Given the description of an element on the screen output the (x, y) to click on. 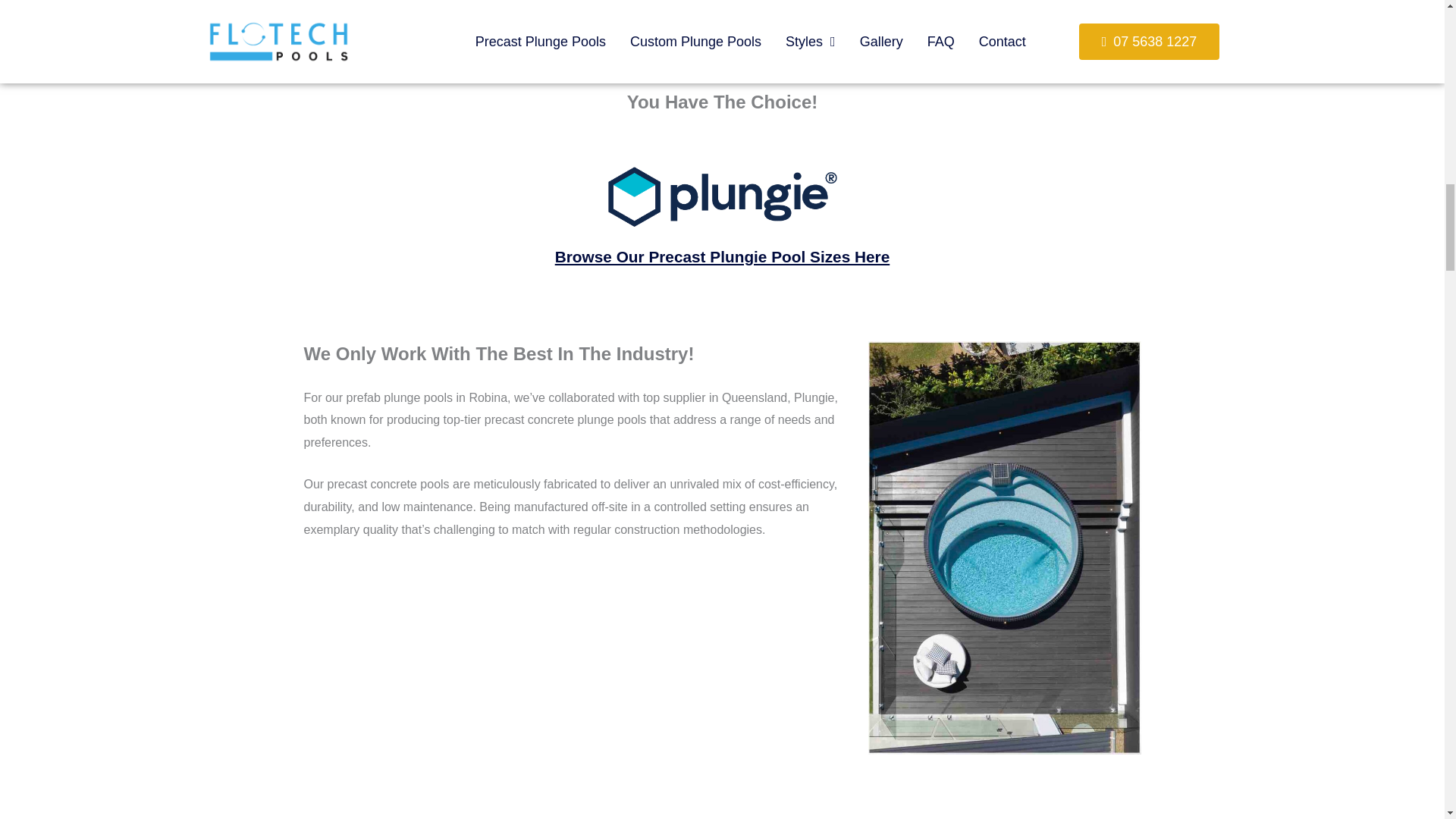
Browse Our Precast Plungie Pool Sizes Here (721, 256)
